Given the description of an element on the screen output the (x, y) to click on. 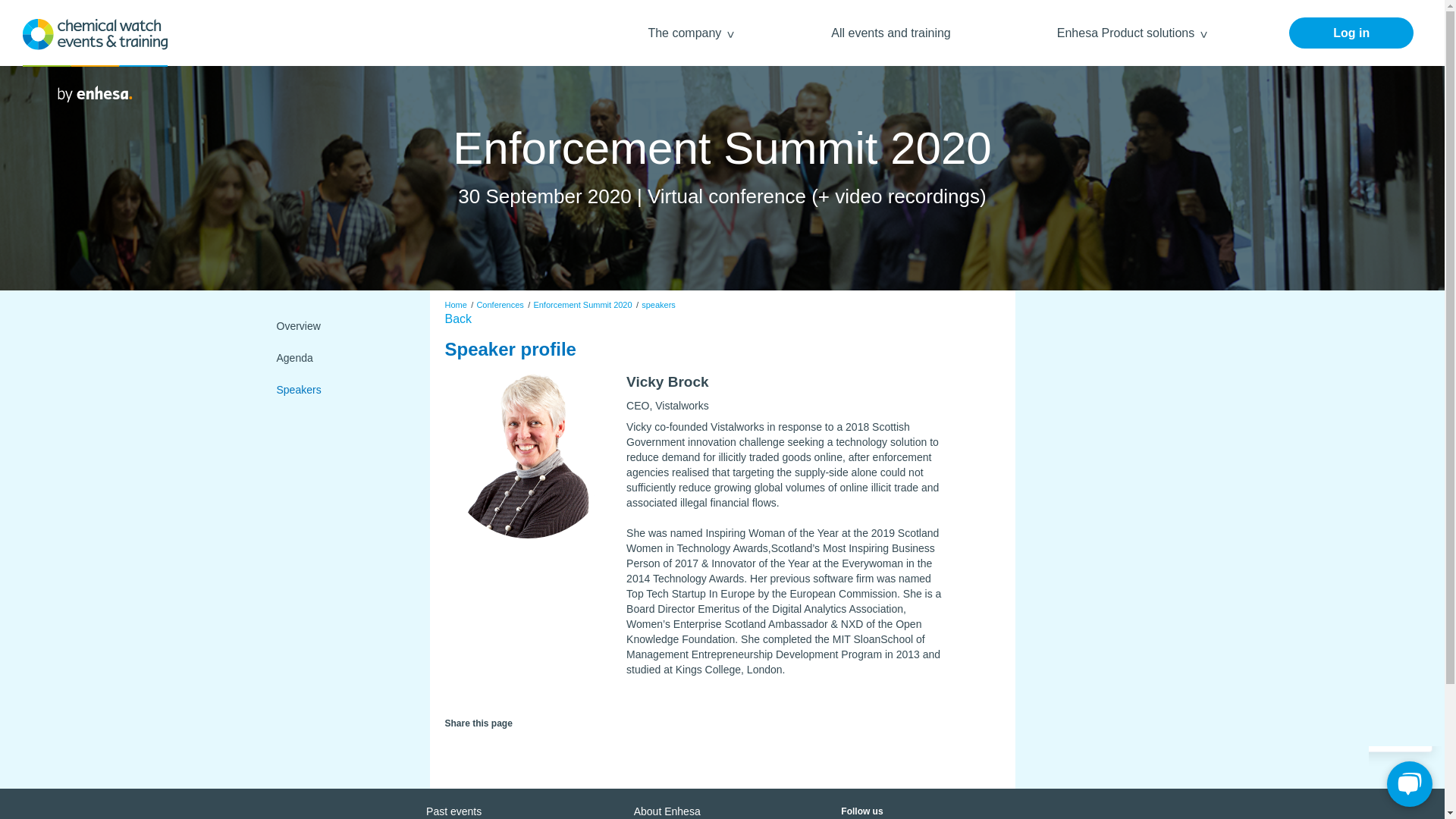
All events and training (890, 32)
Print View (526, 745)
Overview (340, 326)
Back (457, 318)
The company (685, 32)
Enhesa Product solutions (1127, 32)
About Enhesa (666, 811)
Agenda (340, 358)
Log in (1350, 32)
main content (226, 7)
speakers (658, 304)
top navigation (71, 7)
Conferences (499, 304)
Share on Twitter (452, 745)
Print View (526, 749)
